Given the description of an element on the screen output the (x, y) to click on. 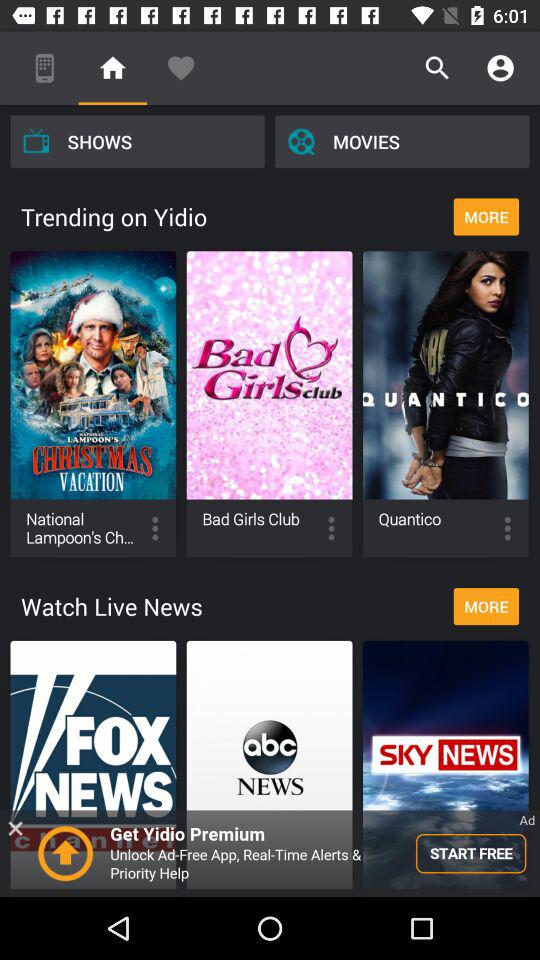
launch icon above shows item (44, 68)
